Given the description of an element on the screen output the (x, y) to click on. 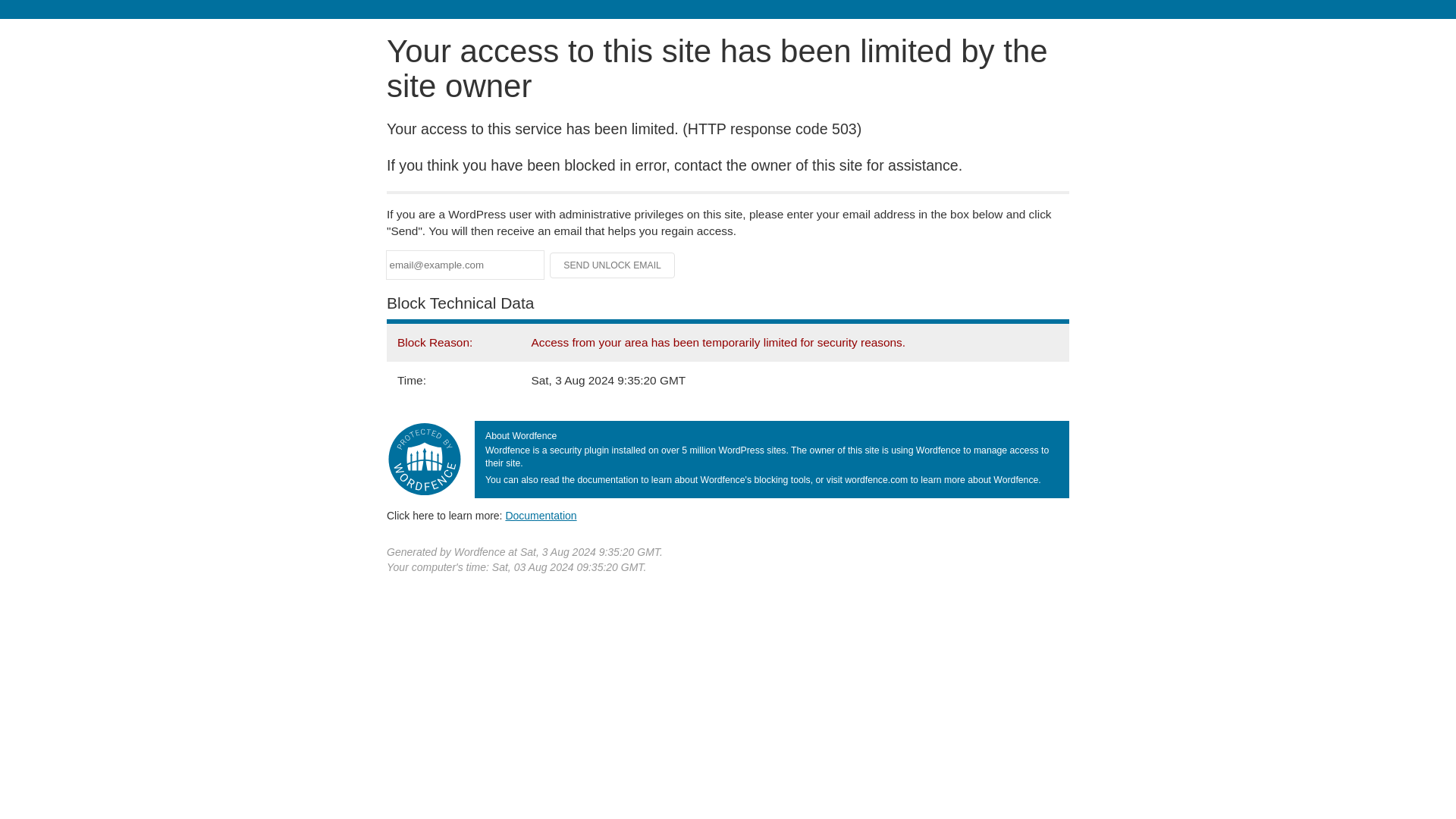
Documentation (540, 515)
Send Unlock Email (612, 265)
Send Unlock Email (612, 265)
